Given the description of an element on the screen output the (x, y) to click on. 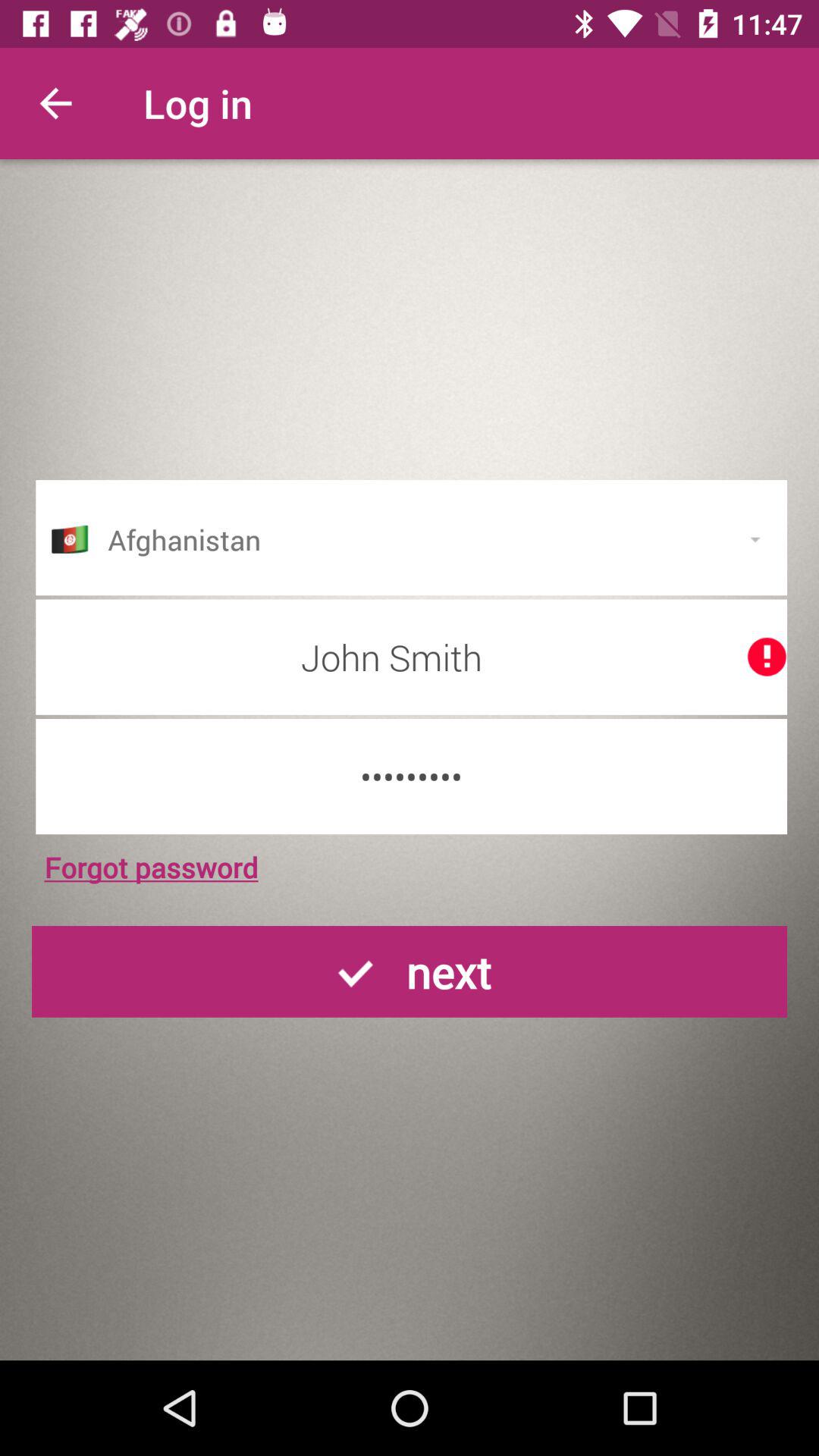
select the icon above the crowd3116 icon (411, 657)
